Given the description of an element on the screen output the (x, y) to click on. 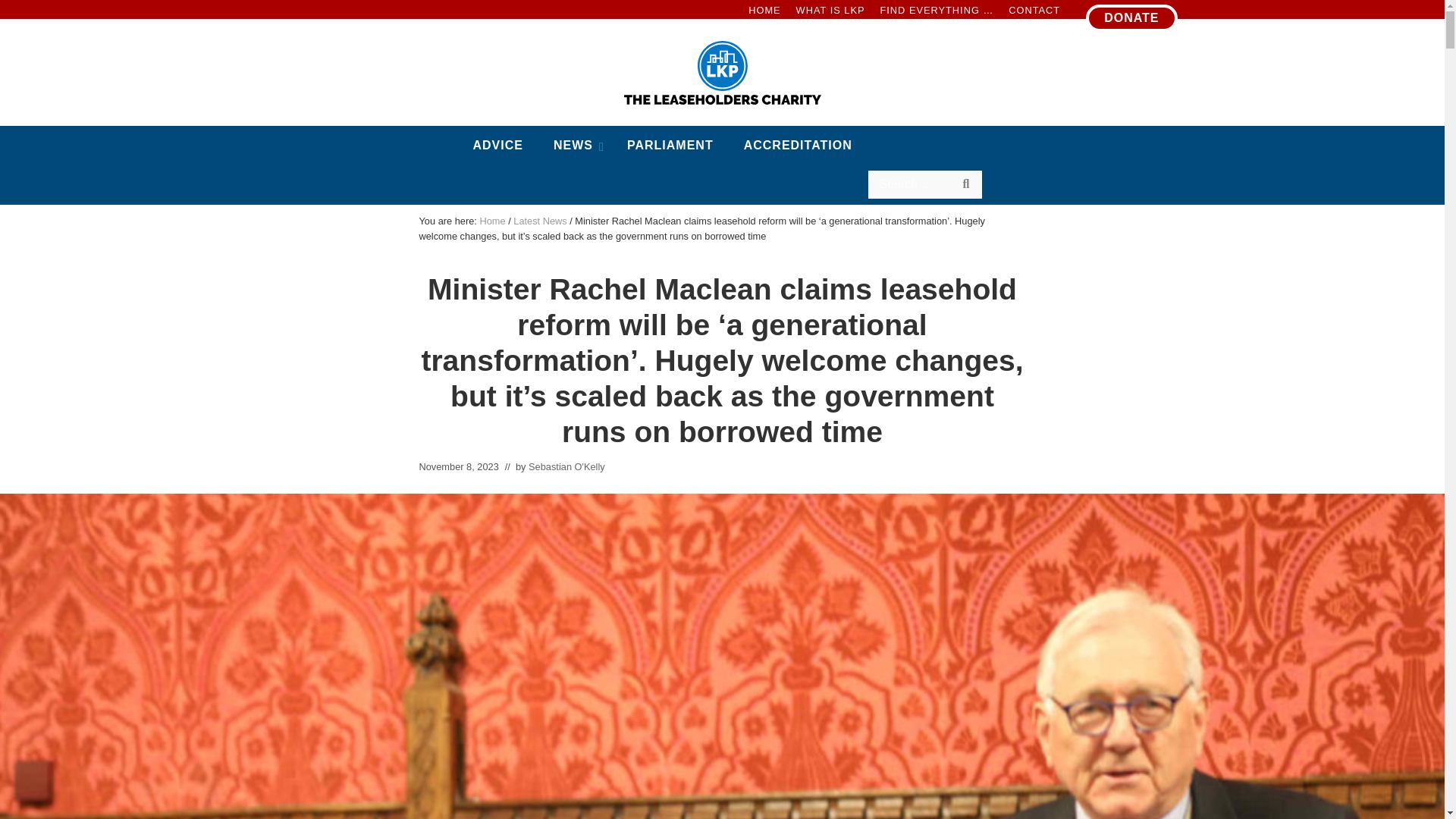
CONTACT (722, 165)
DONATE (1034, 11)
HOME (1131, 17)
Menu (764, 11)
